Given the description of an element on the screen output the (x, y) to click on. 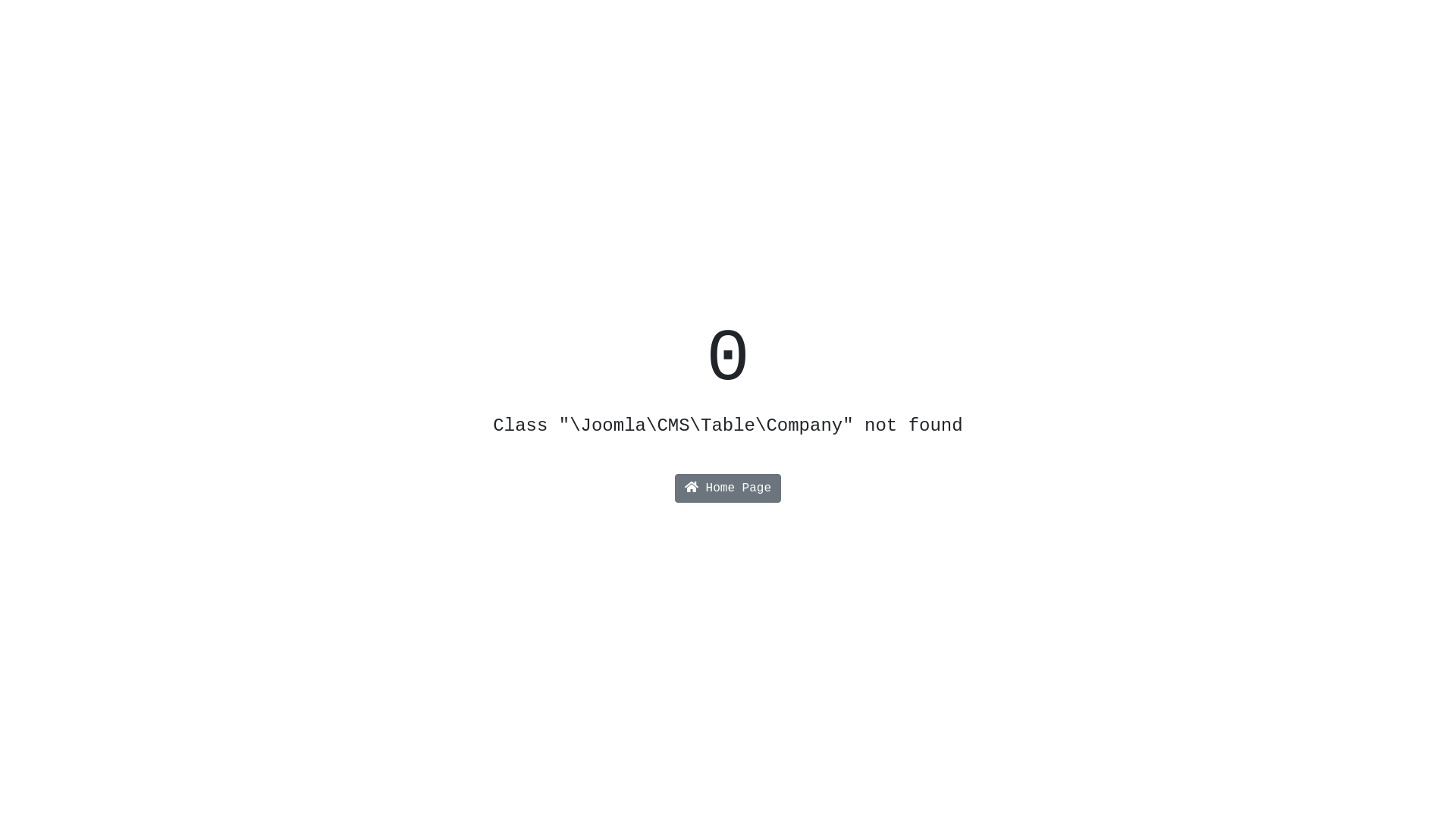
Home Page Element type: text (727, 487)
